Given the description of an element on the screen output the (x, y) to click on. 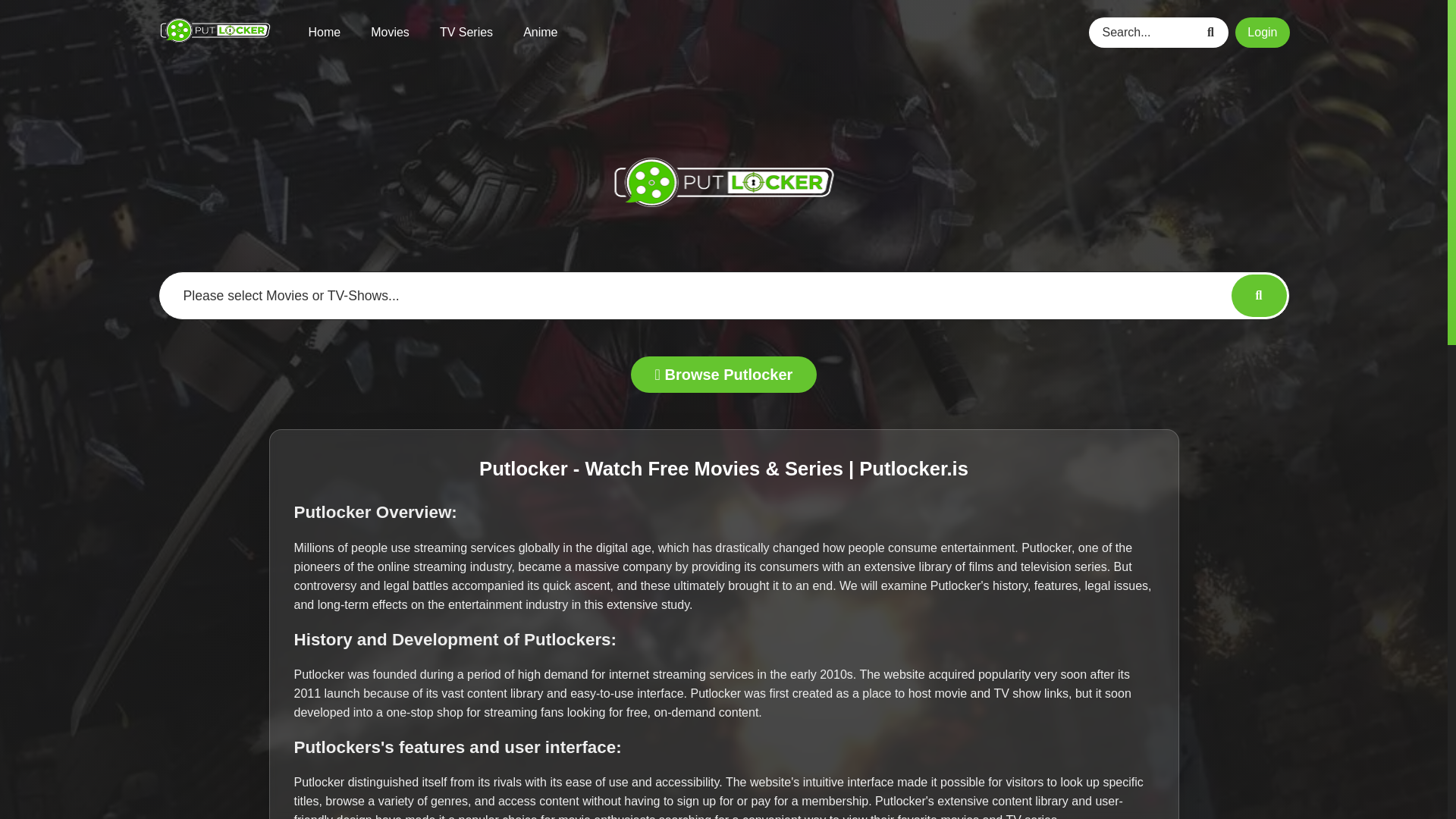
Search (1213, 31)
TV Series (466, 31)
Anime (539, 31)
Login (1261, 31)
Movies (390, 31)
 Browse Putlocker (723, 374)
Home (323, 31)
